Given the description of an element on the screen output the (x, y) to click on. 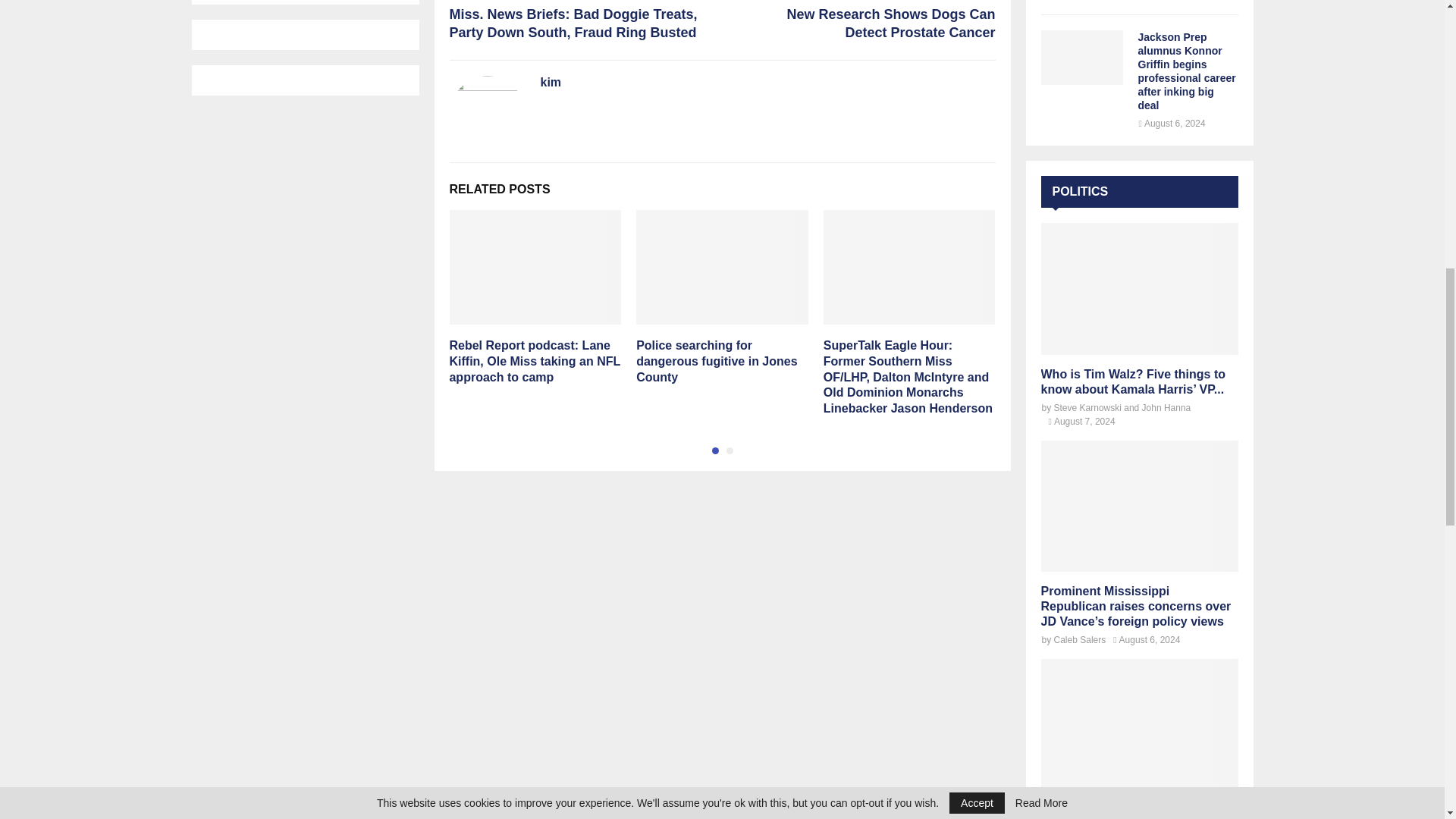
Posts by kim (550, 82)
